Given the description of an element on the screen output the (x, y) to click on. 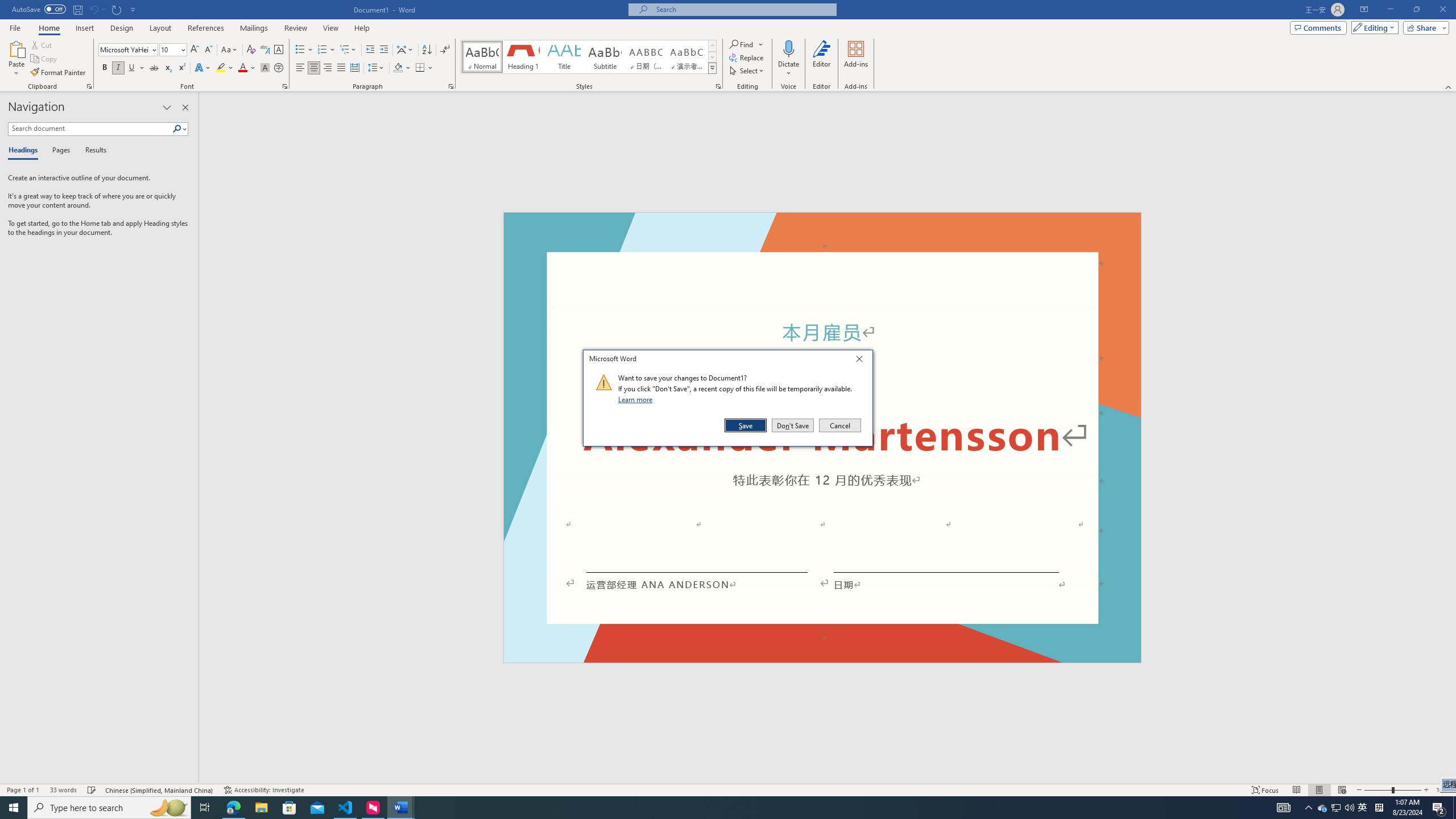
Show desktop (1454, 807)
Q2790: 100% (1349, 807)
